Given the description of an element on the screen output the (x, y) to click on. 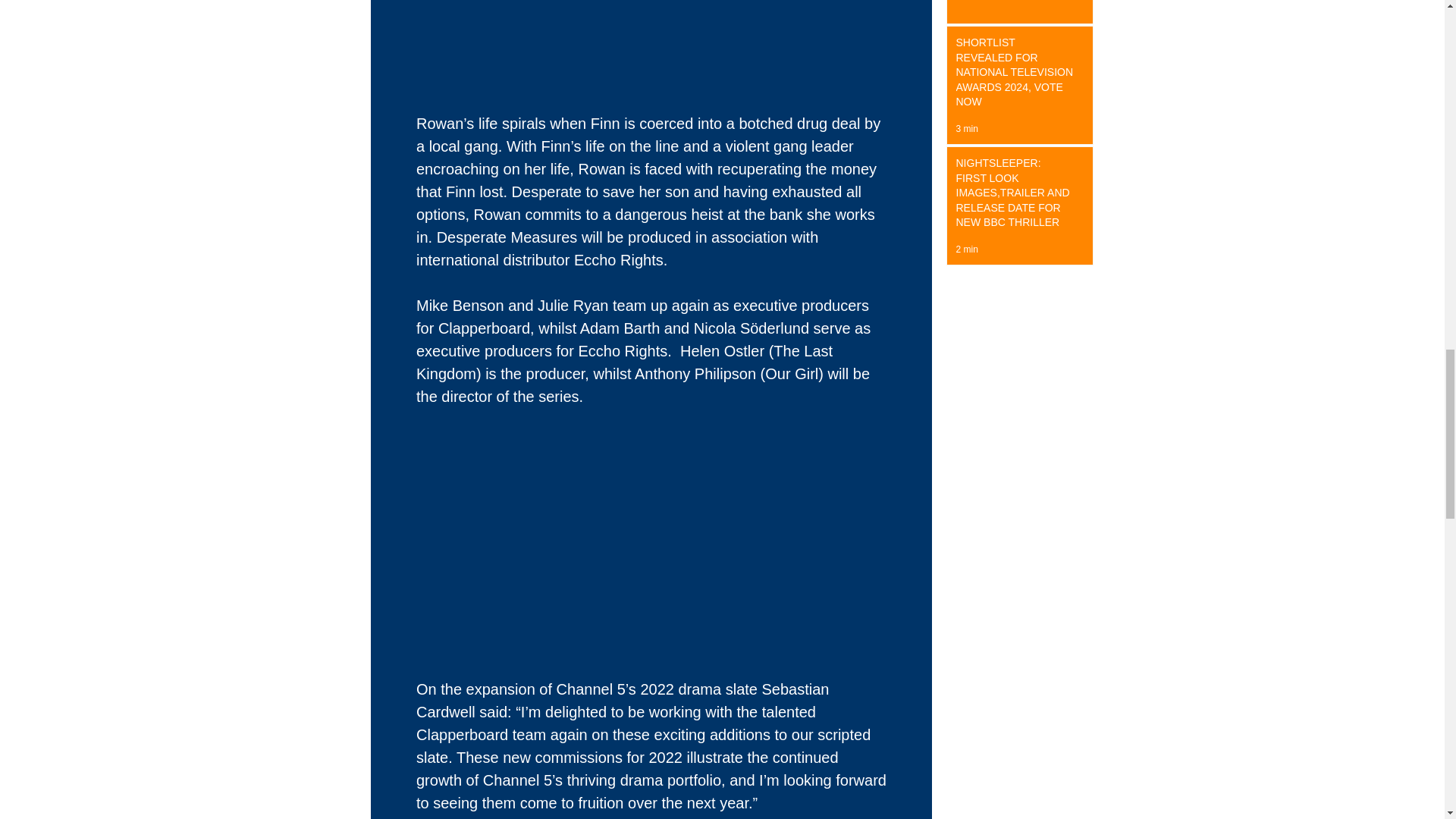
3 min (965, 128)
2 min (965, 249)
